Given the description of an element on the screen output the (x, y) to click on. 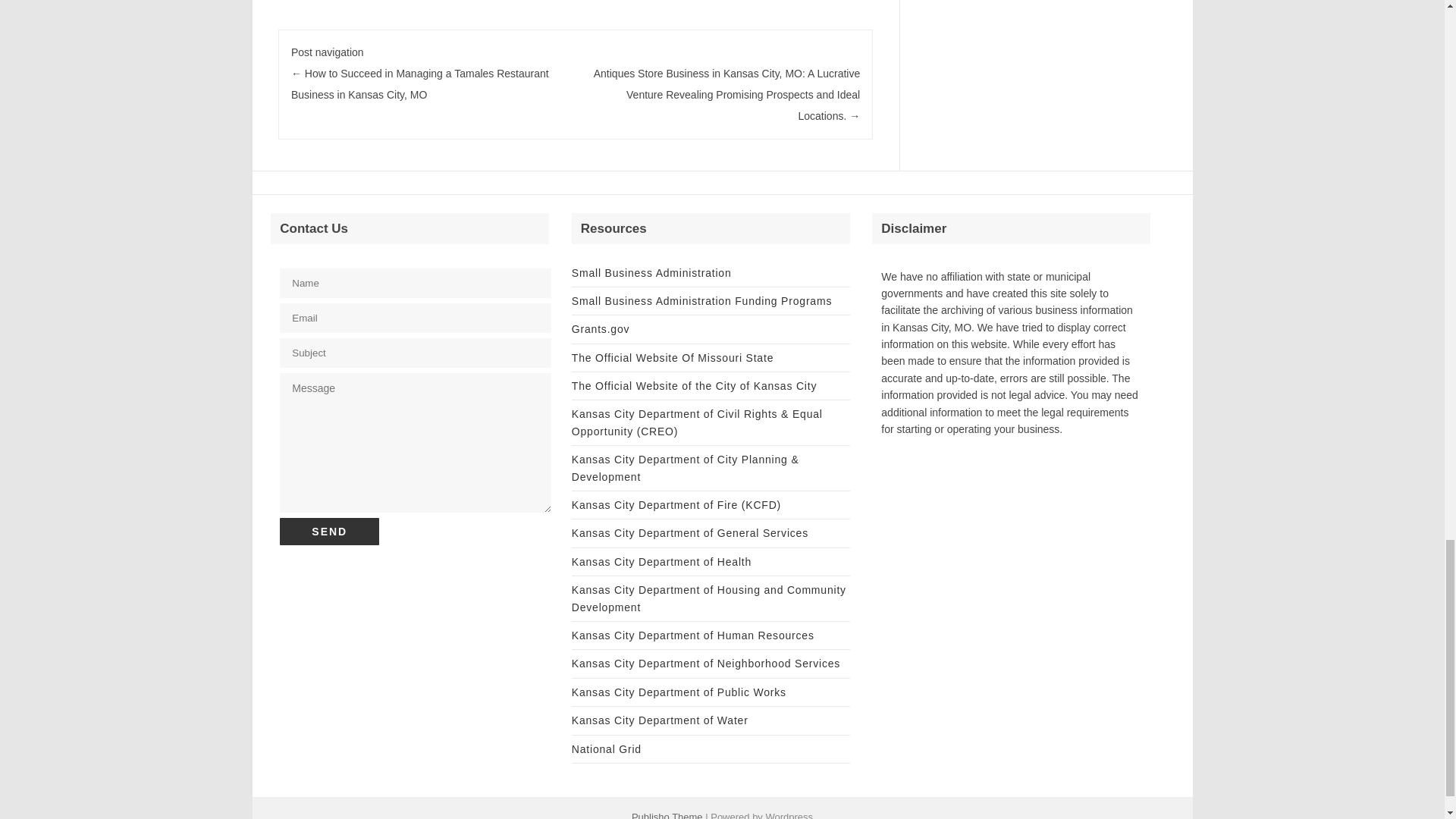
Kansas City Department of Public Works (679, 692)
Kansas City Department of General Services (690, 532)
National Grid (607, 748)
Kansas City Department of Neighborhood Services (706, 663)
Kansas City Department of Housing and Community Development (708, 597)
Send (328, 531)
Kansas City Department of Health (661, 562)
Small Business Administration (652, 272)
Kansas City Department of Water (660, 720)
The Official Website Of Missouri State (672, 357)
Grants.gov (600, 328)
Small Business Administration Funding Programs (701, 300)
Kansas City Department of Human Resources (692, 635)
The Official Website of the City of Kansas City (694, 386)
Send (328, 531)
